Given the description of an element on the screen output the (x, y) to click on. 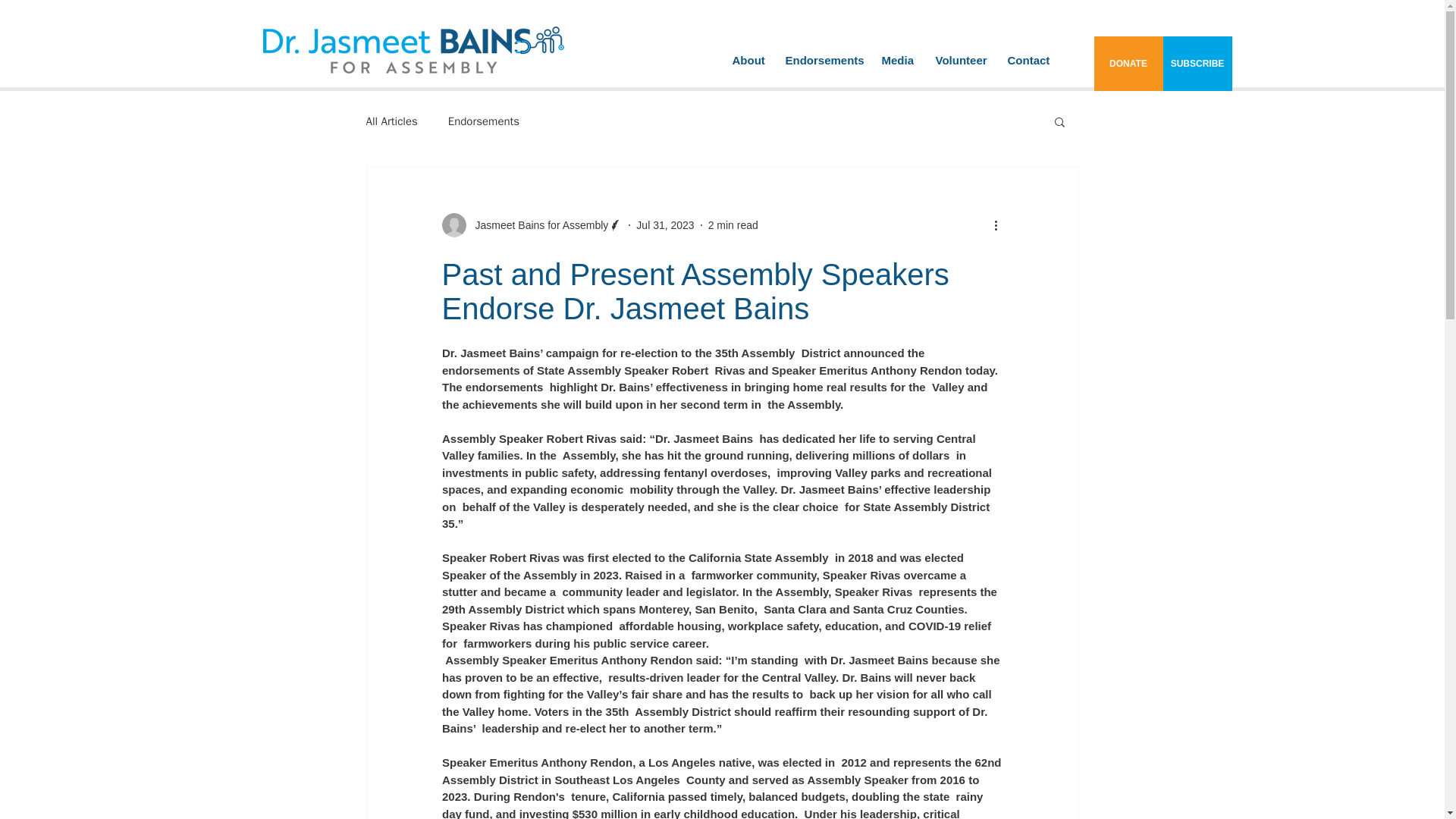
All Articles (390, 120)
DONATE (1127, 63)
Volunteer (959, 59)
Jul 31, 2023 (665, 224)
Endorsements (483, 120)
Contact (1027, 59)
Endorsements (821, 59)
Jasmeet Bains for Assembly (536, 224)
2 min read (732, 224)
SUBSCRIBE (1197, 63)
